Given the description of an element on the screen output the (x, y) to click on. 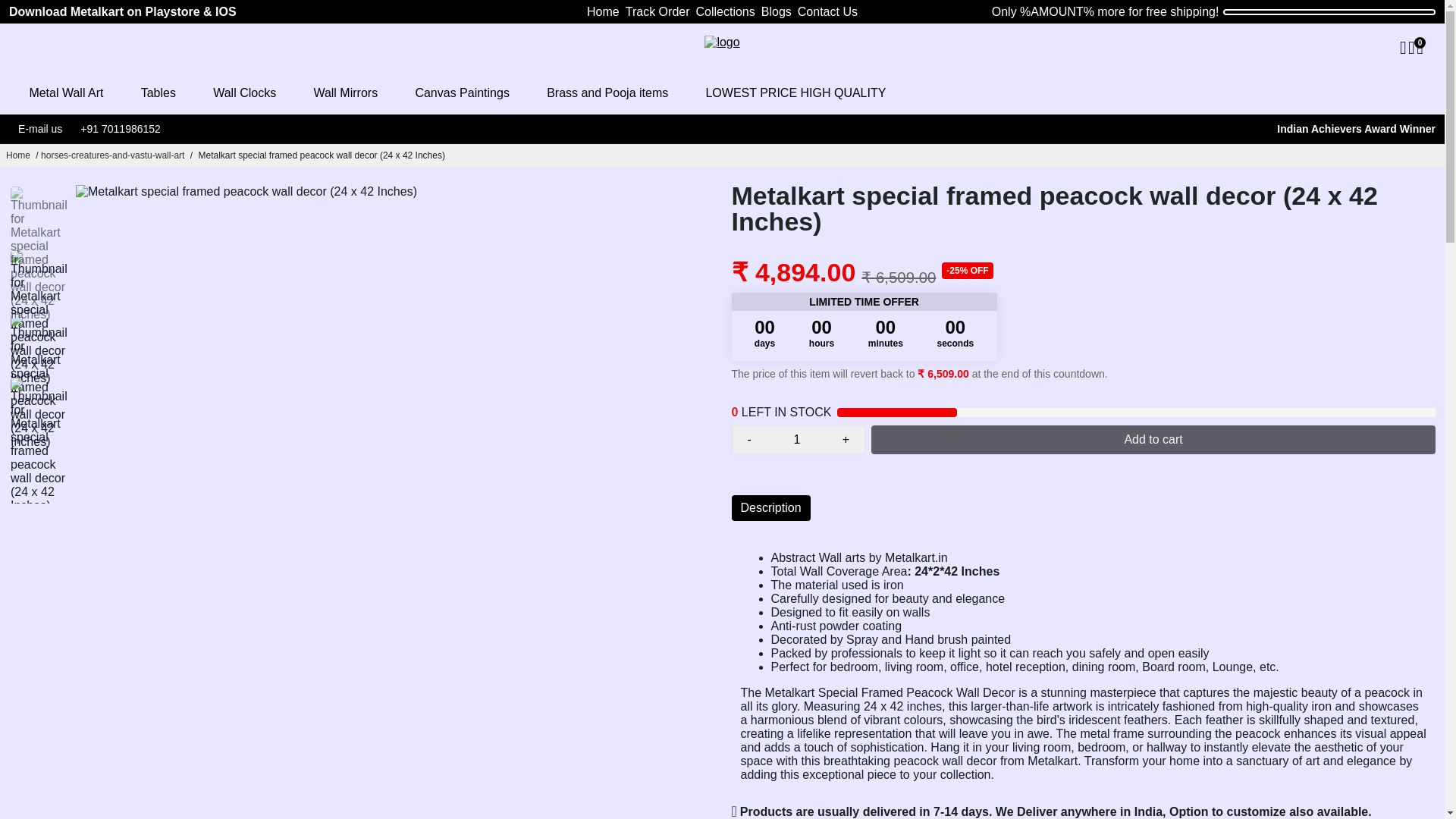
About Us (1355, 129)
Collections (725, 11)
Tables (157, 93)
Wall Clocks (244, 93)
Home (603, 11)
Track Order (658, 11)
Wall Mirrors (345, 93)
Contact Us (827, 11)
1 (797, 439)
Home (17, 154)
Metal Wall Art (65, 93)
Blogs (776, 11)
Canvas Paintings (461, 93)
